Given the description of an element on the screen output the (x, y) to click on. 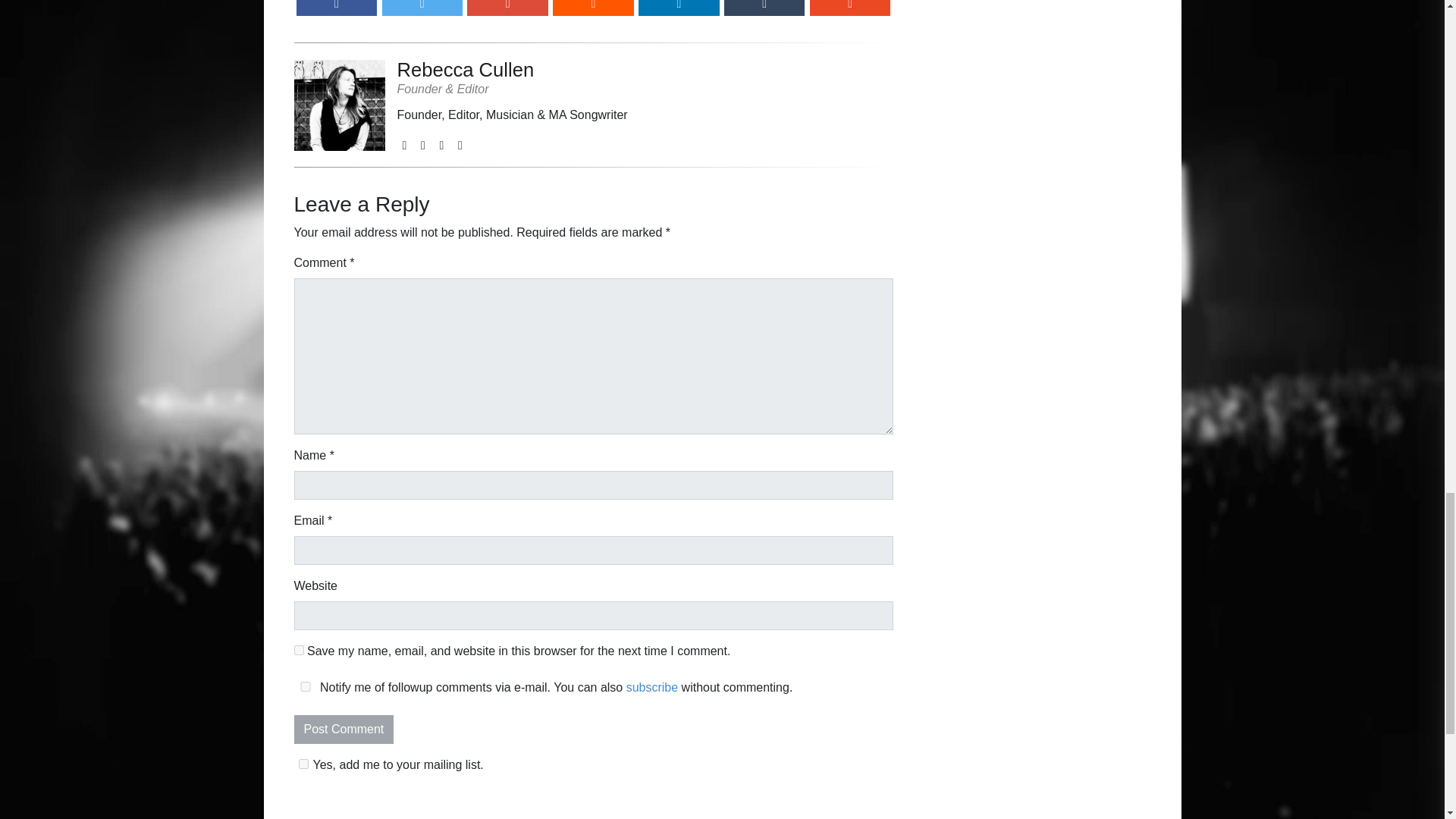
subscribe (652, 686)
Post Comment (344, 728)
yes (299, 650)
Rebecca Cullen (512, 69)
yes (305, 686)
1 (303, 764)
Post Comment (344, 728)
